Given the description of an element on the screen output the (x, y) to click on. 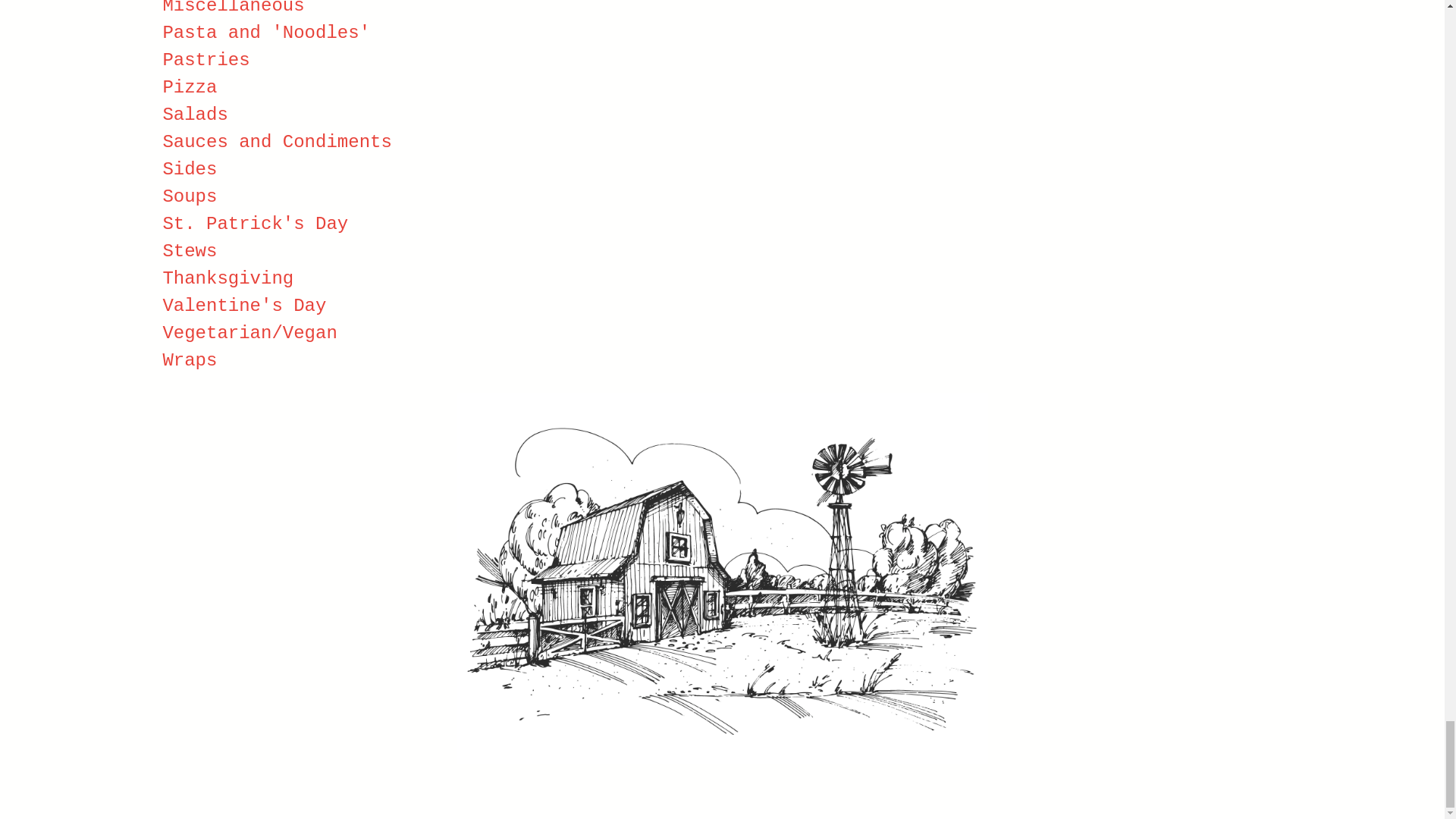
Pasta and 'Noodles' (265, 32)
Pastries (204, 59)
Miscellaneous (232, 7)
